Given the description of an element on the screen output the (x, y) to click on. 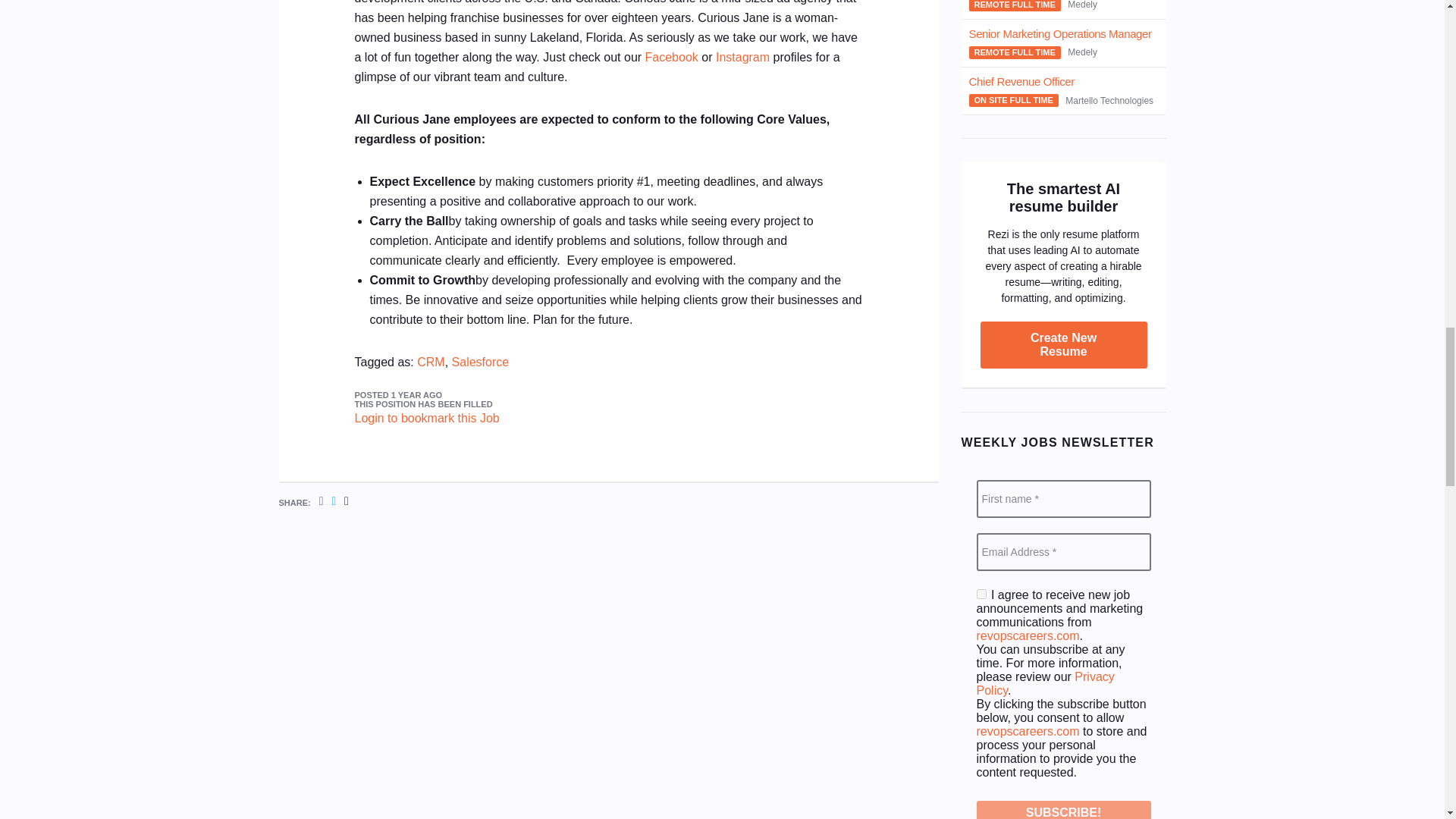
SUBSCRIBE! (1063, 809)
First name (1063, 498)
Email Address (1063, 551)
Facebook (671, 56)
1 (981, 593)
Instagram (743, 56)
CRM (430, 361)
